Given the description of an element on the screen output the (x, y) to click on. 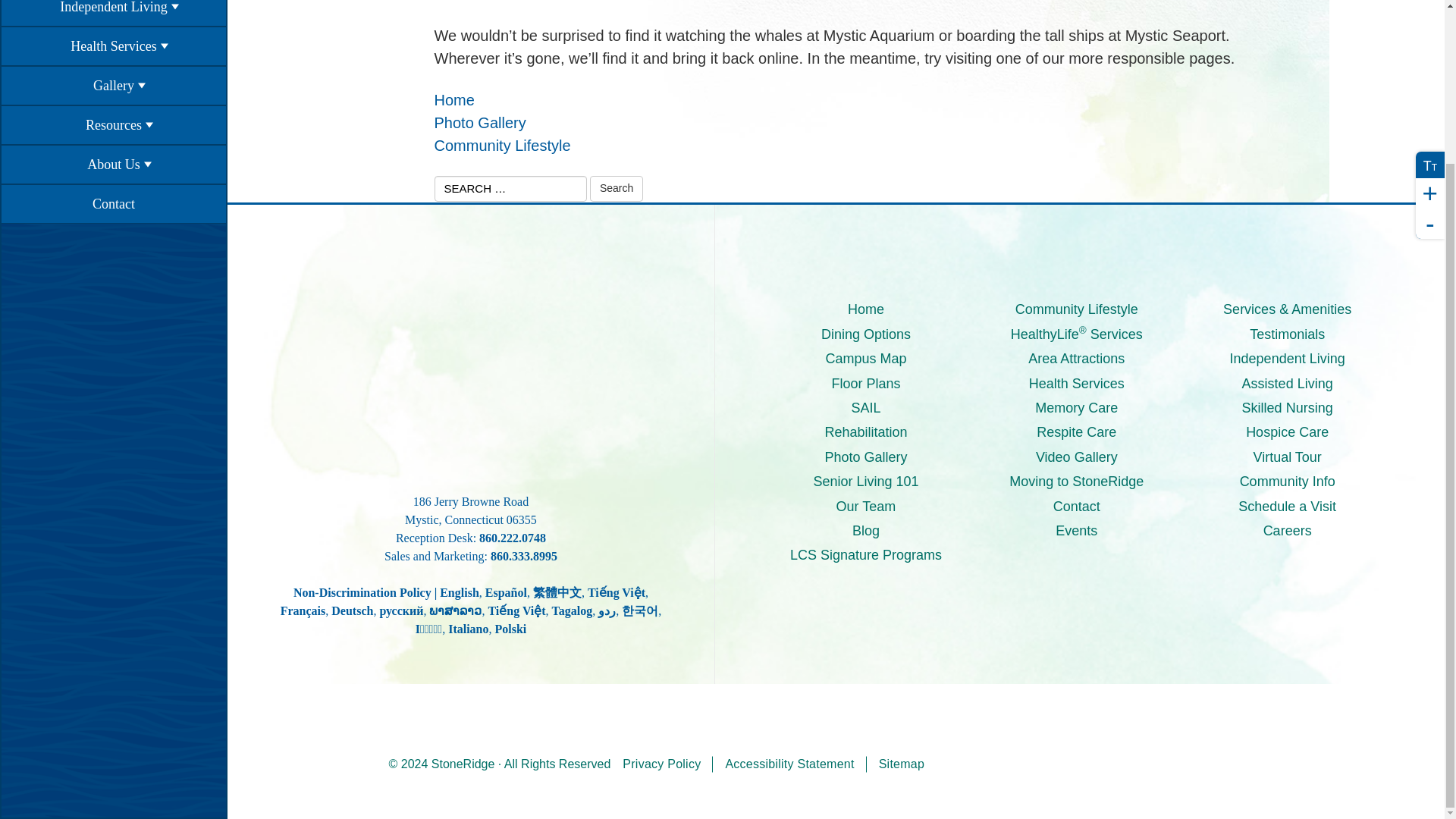
Gallery (113, 85)
Search (616, 188)
Independent Living (113, 13)
StoneRidge (470, 362)
Search (616, 188)
Contact (113, 203)
Health Services (113, 46)
Resources (113, 124)
About Us (113, 164)
